Given the description of an element on the screen output the (x, y) to click on. 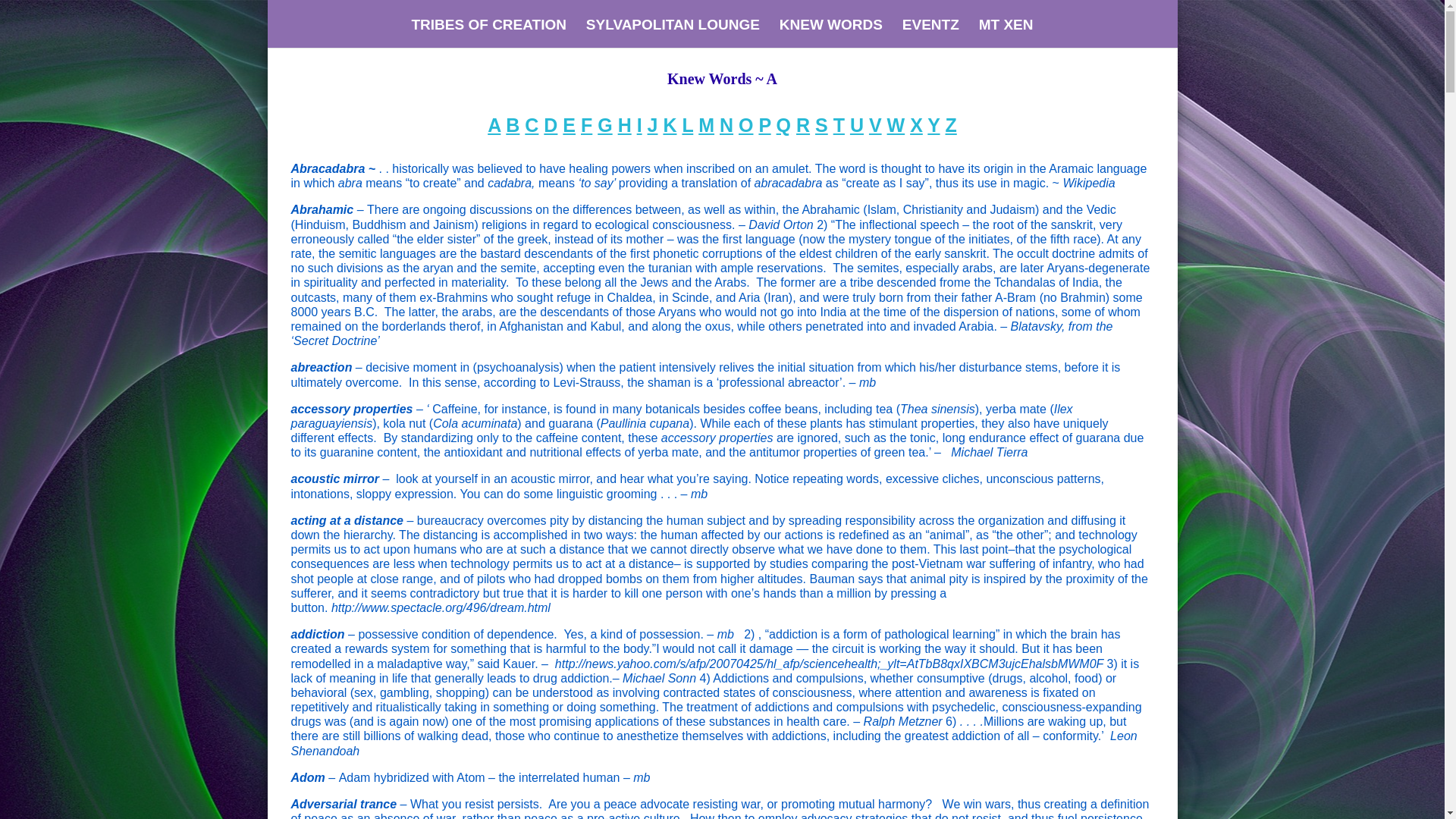
KNEW WORDS (830, 33)
TRIBES OF CREATION (489, 33)
EVENTZ (930, 33)
SYLVAPOLITAN LOUNGE (673, 33)
MT XEN (1005, 33)
